Given the description of an element on the screen output the (x, y) to click on. 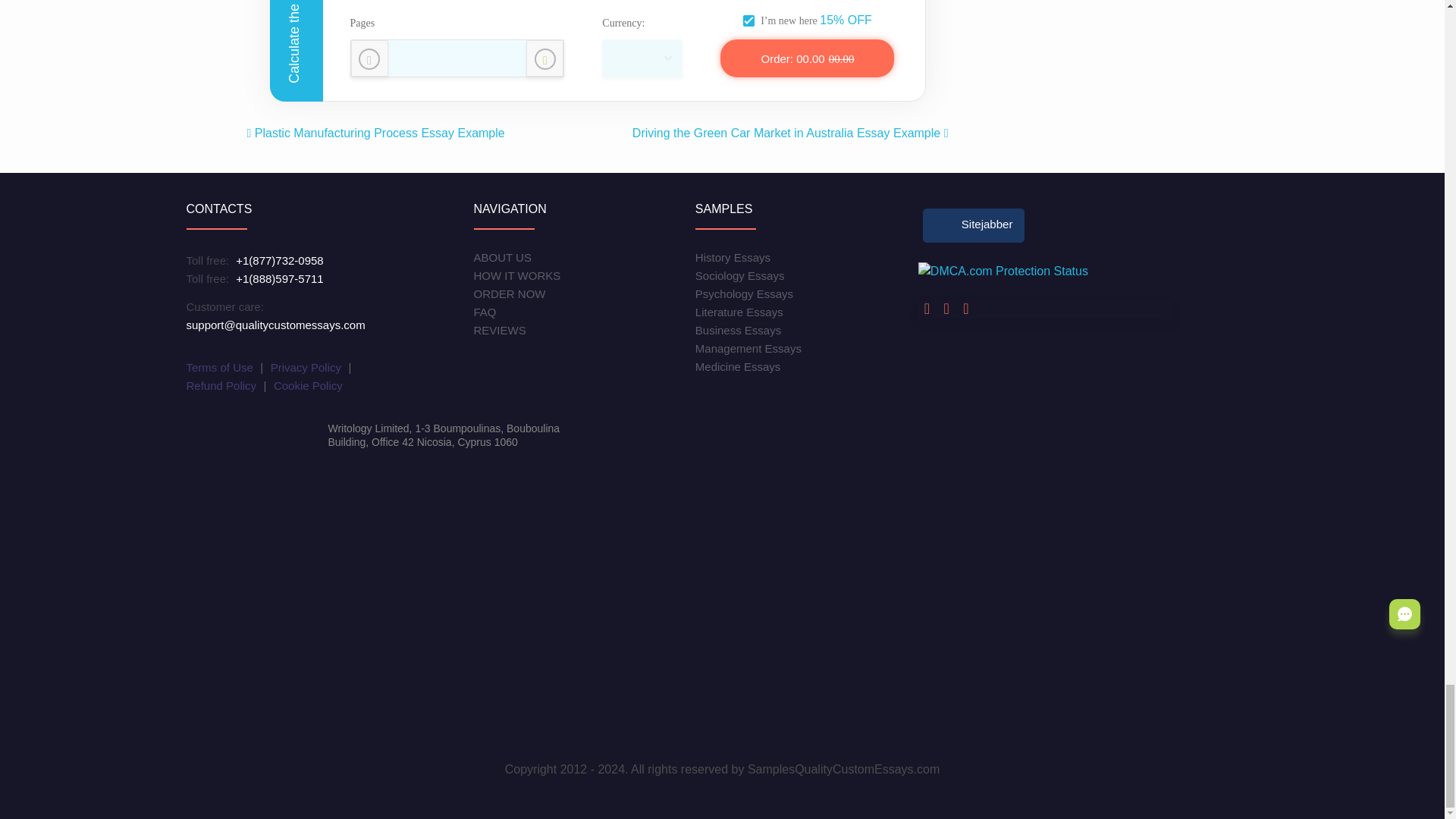
Plus (544, 58)
Driving the Green Car Market in Australia Essay Example (790, 132)
Minus (368, 58)
Order: 00.0000.00 (806, 57)
Plastic Manufacturing Process Essay Example (376, 132)
DMCA.com Protection Status (1002, 271)
